Given the description of an element on the screen output the (x, y) to click on. 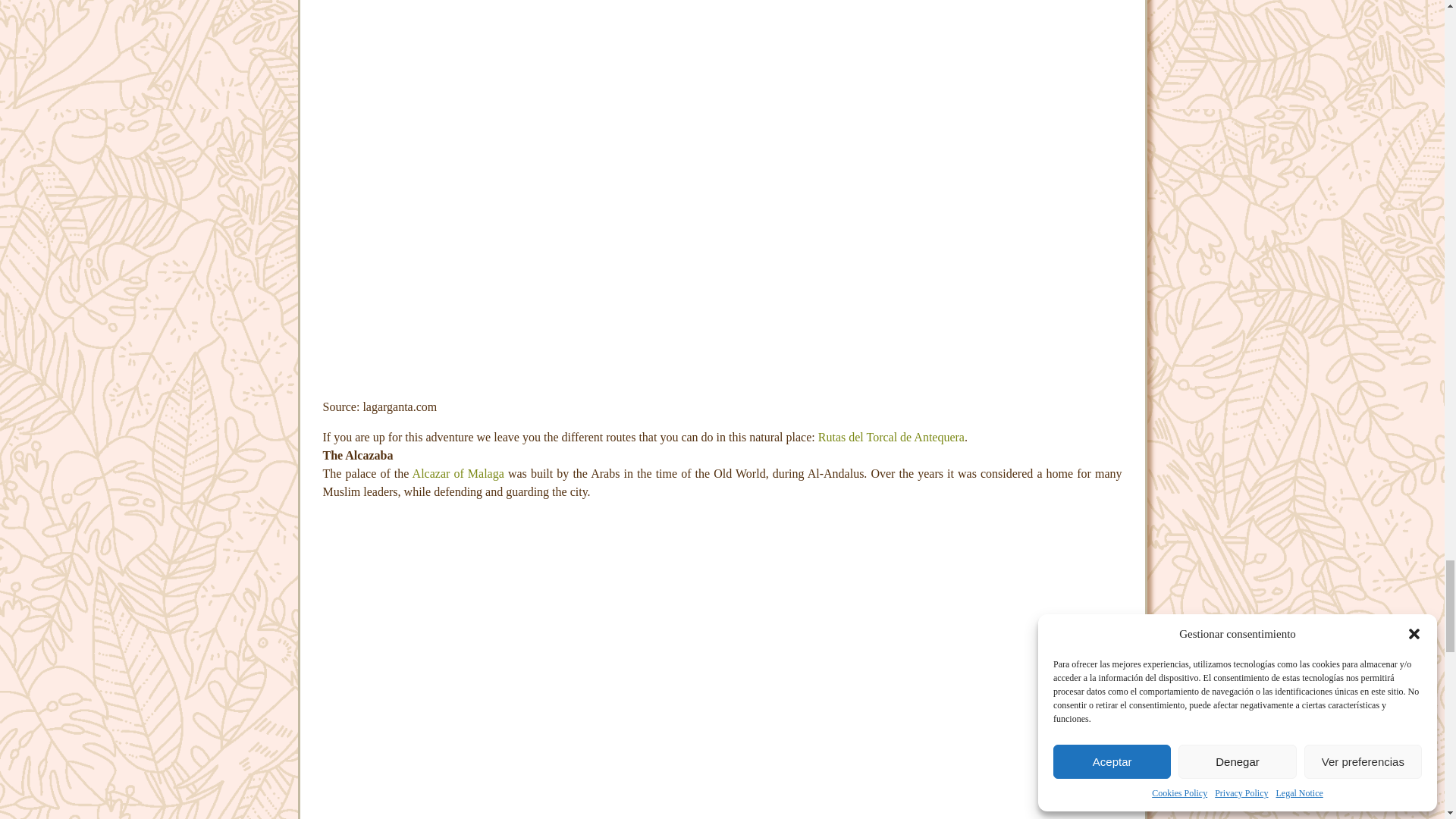
Rutas del Torcal de Antequera (890, 436)
Alcazar of Malaga (457, 472)
